Given the description of an element on the screen output the (x, y) to click on. 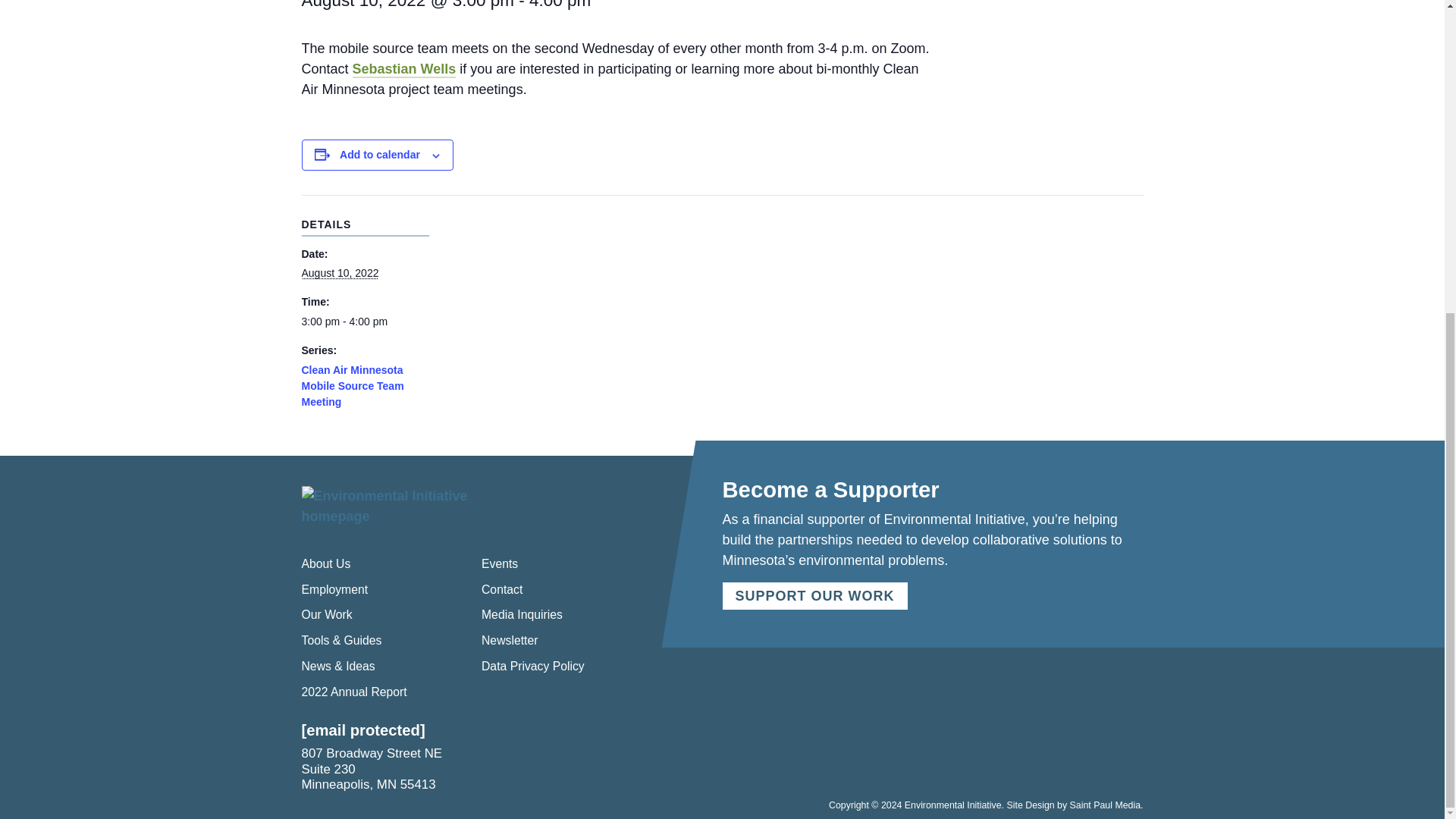
2022-08-10 (365, 321)
2022-08-10 (339, 272)
Clean Air Minnesota Mobile Source Team Meeting (352, 385)
